Given the description of an element on the screen output the (x, y) to click on. 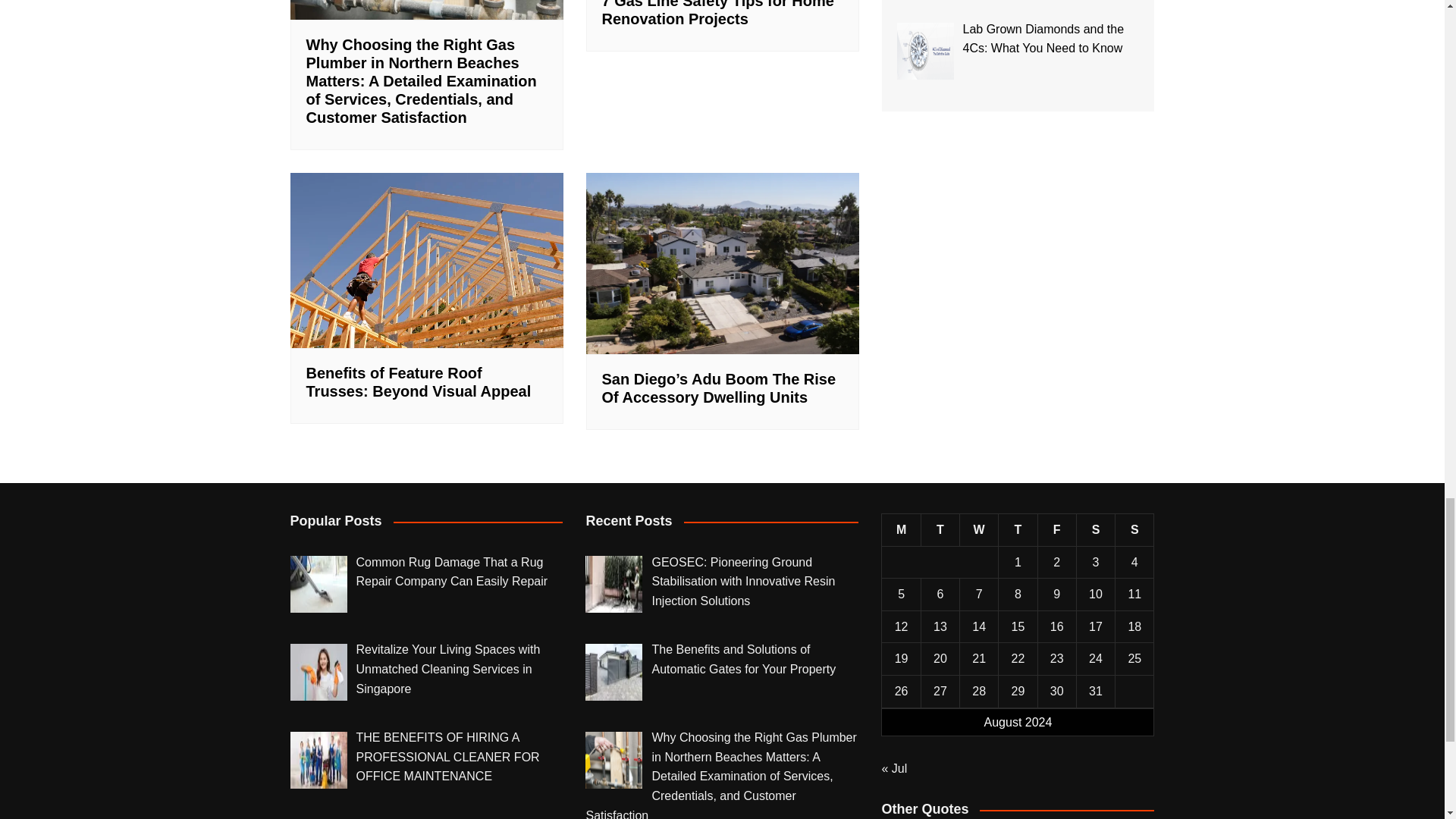
Gas Plumber (425, 9)
roof trusses (425, 260)
